Given the description of an element on the screen output the (x, y) to click on. 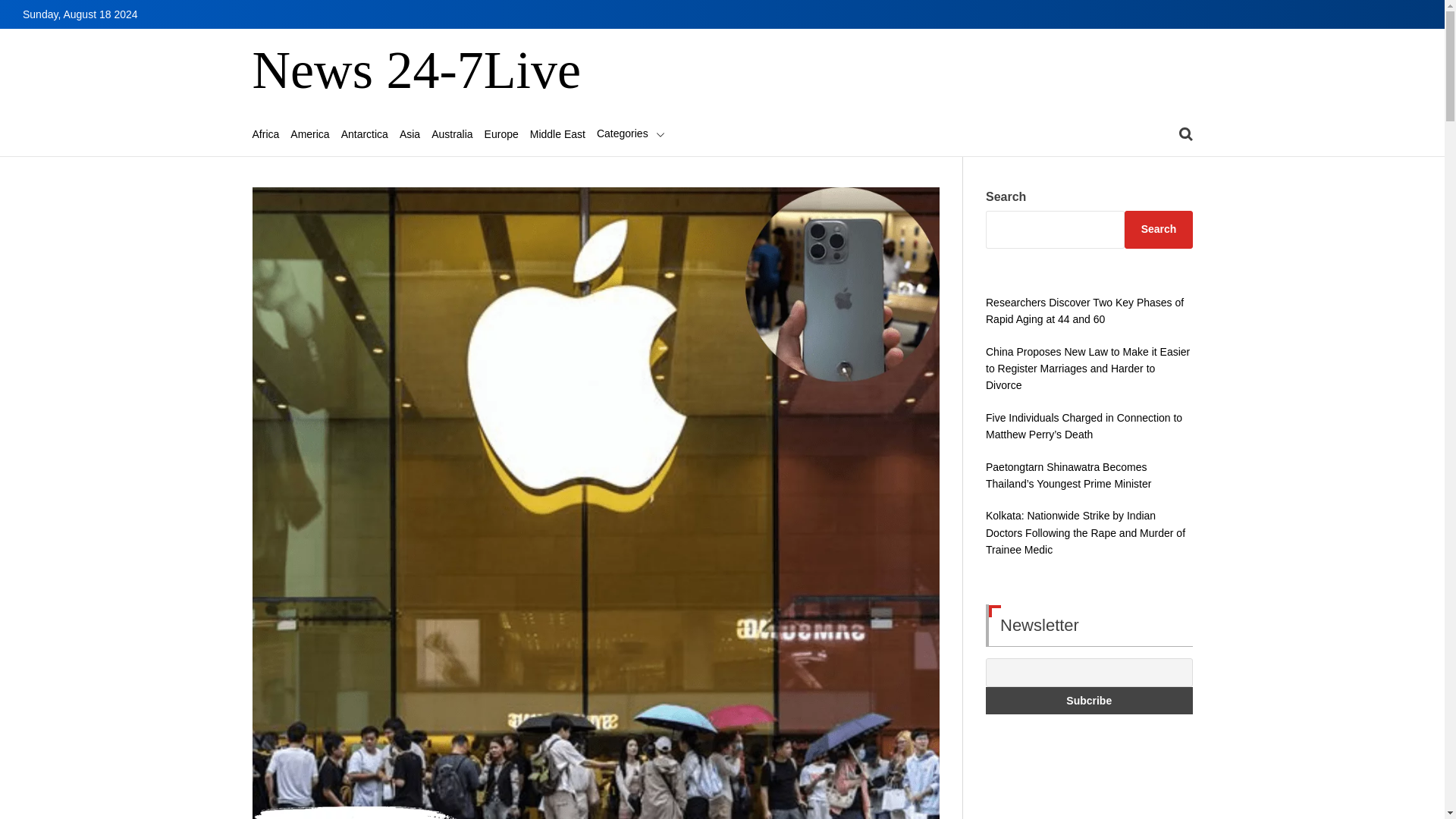
Africa (265, 133)
Categories (630, 133)
Antarctica (364, 133)
America (309, 133)
Subcribe (1088, 700)
Asia (409, 133)
Middle East (557, 133)
Europe (501, 133)
Australia (450, 133)
News 24-7Live (415, 70)
